Given the description of an element on the screen output the (x, y) to click on. 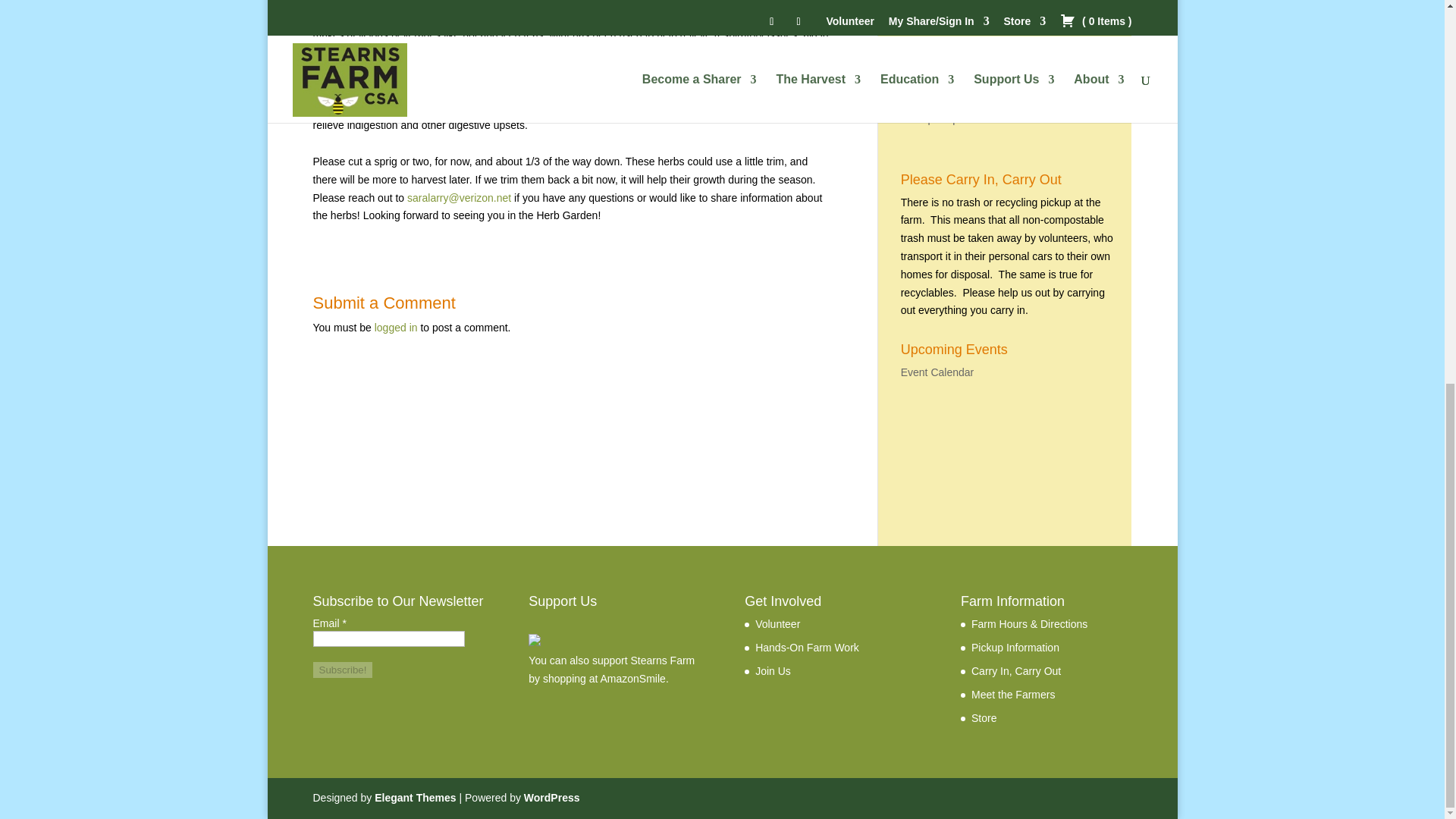
Premium WordPress Themes (414, 797)
Email (388, 638)
Subscribe! (342, 669)
